Given the description of an element on the screen output the (x, y) to click on. 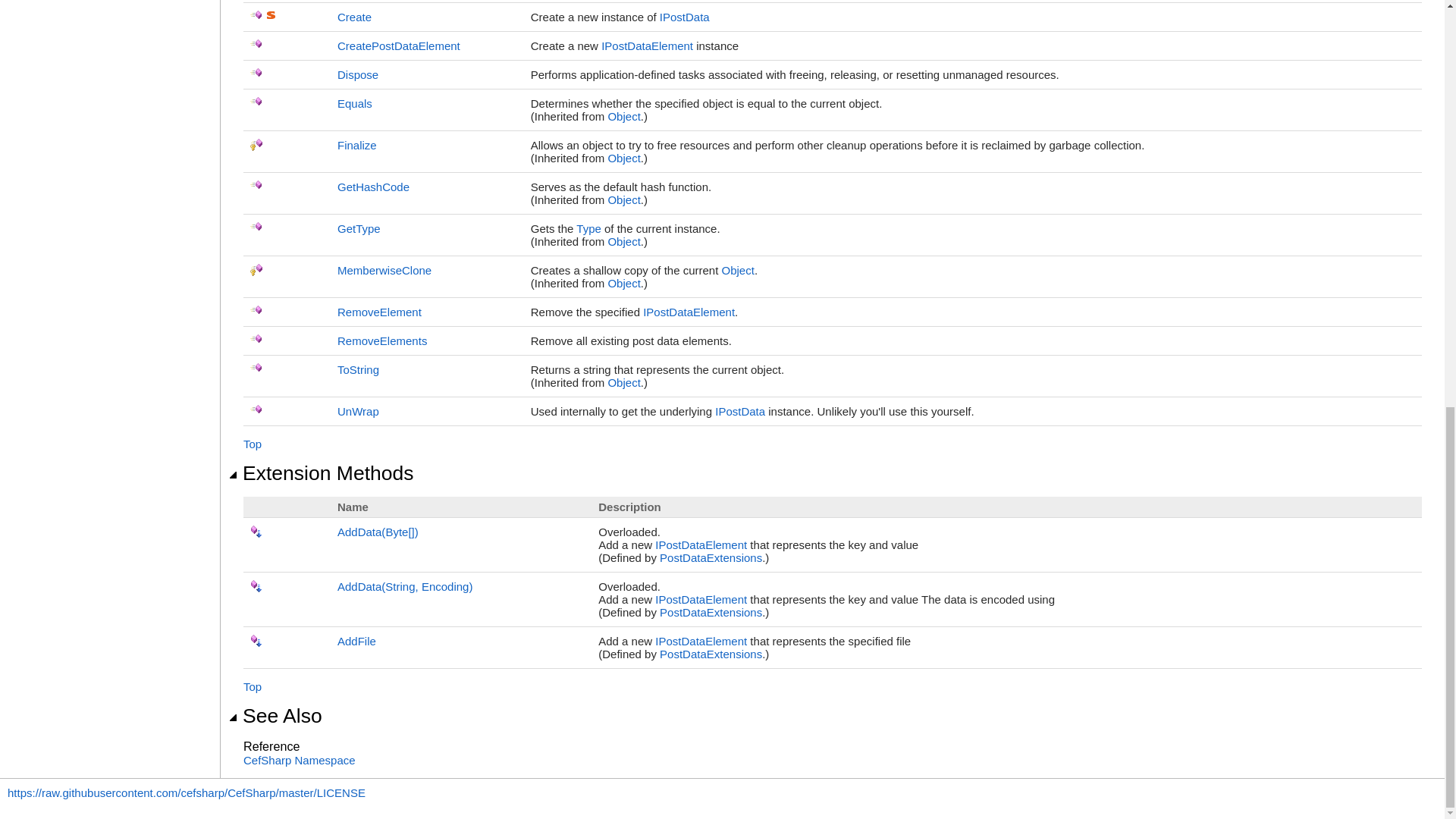
Object (623, 115)
GetType (358, 228)
Object (623, 199)
Static member (271, 14)
Finalize (357, 144)
Create (354, 16)
IPostData (684, 16)
Object (623, 157)
Dispose (357, 74)
CreatePostDataElement (398, 45)
